Given the description of an element on the screen output the (x, y) to click on. 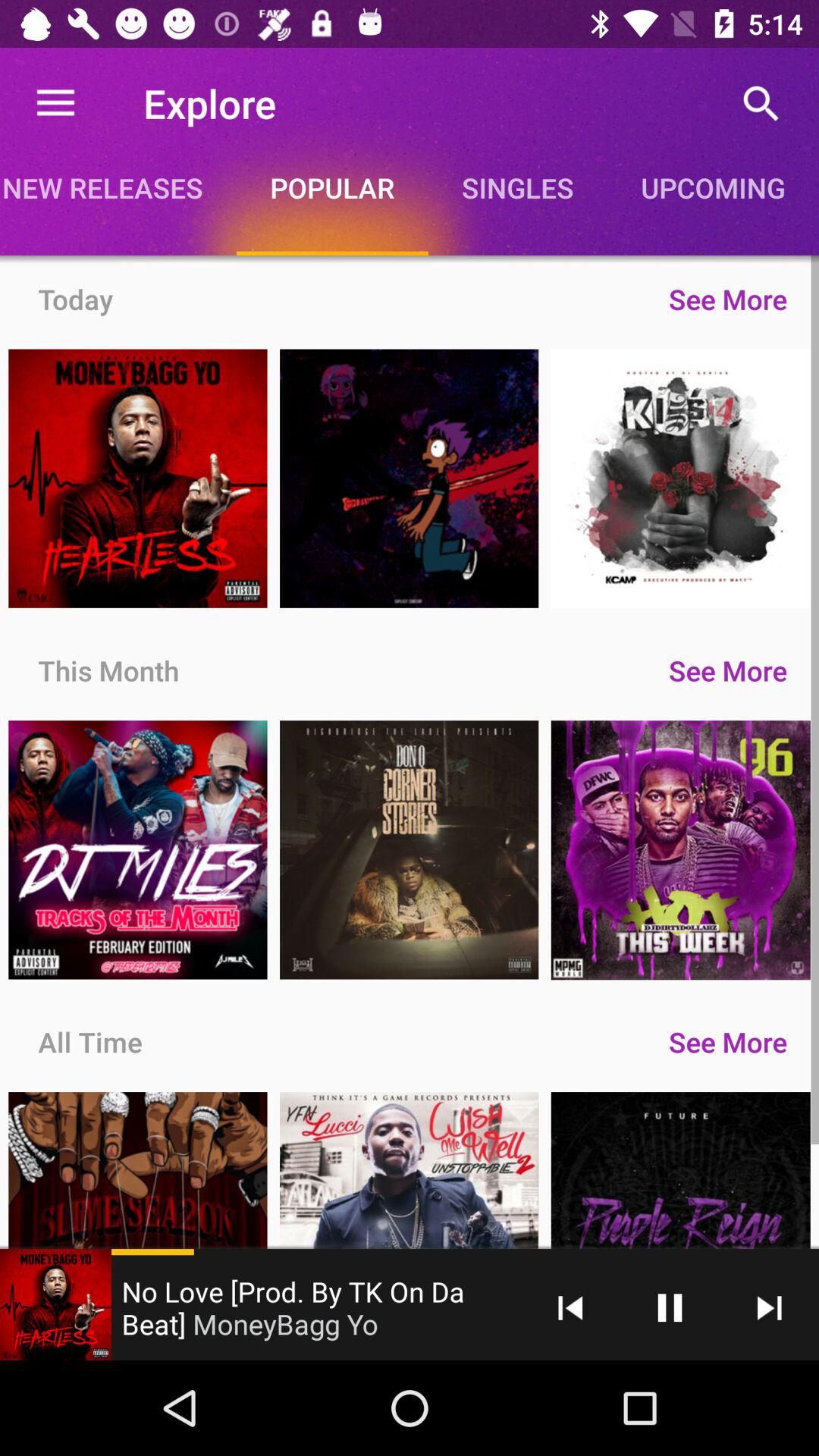
choose the app to the left of popular (118, 187)
